Given the description of an element on the screen output the (x, y) to click on. 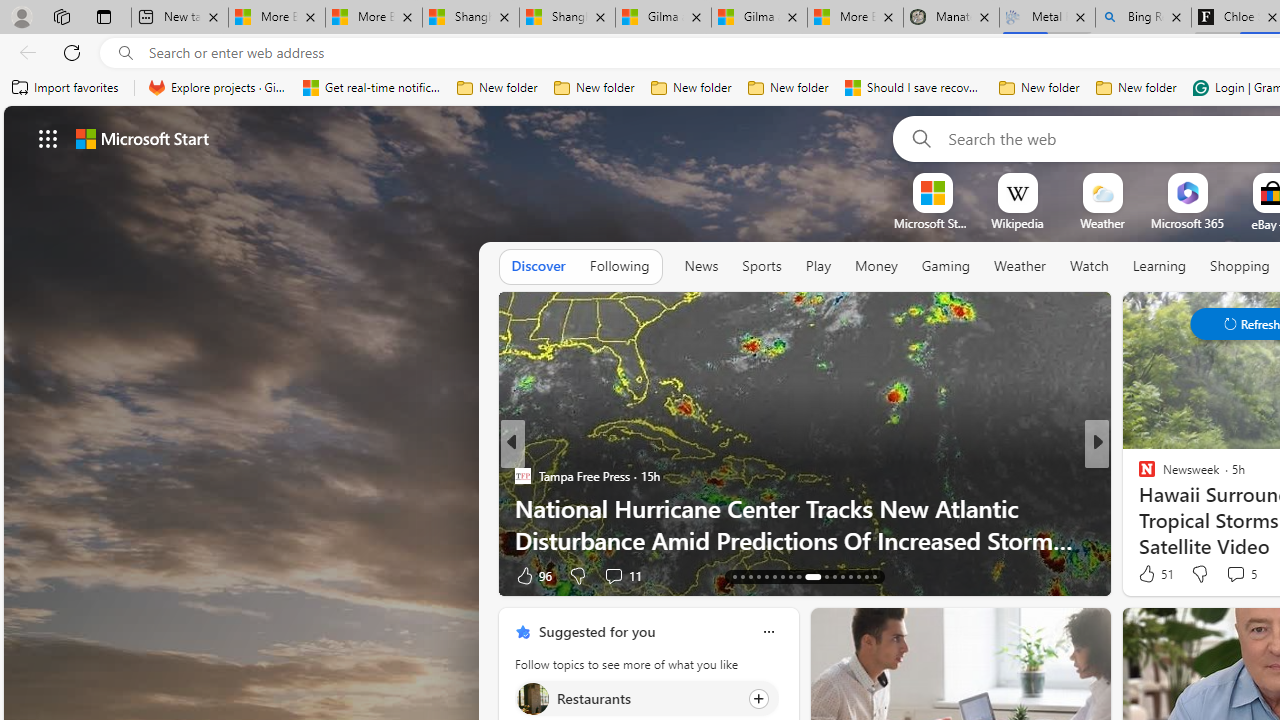
Class: control (47, 138)
22 Like (1149, 574)
AutomationID: tab-18 (742, 576)
AutomationID: tab-27 (825, 576)
AutomationID: tab-20 (757, 576)
96 Like (532, 574)
AutomationID: tab-32 (865, 576)
Import favorites (65, 88)
